Given the description of an element on the screen output the (x, y) to click on. 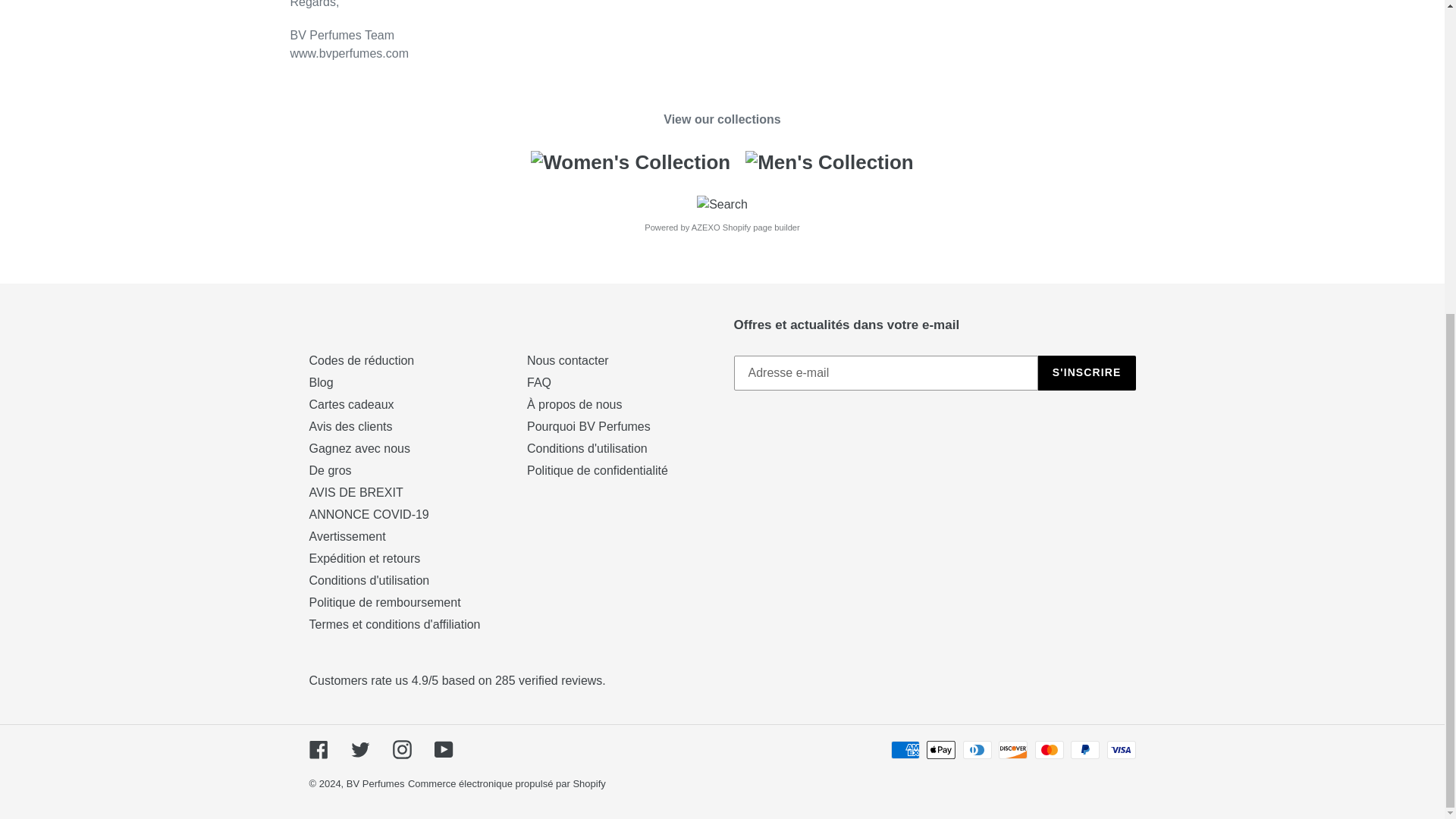
Search BV Perfumes (722, 204)
ANNONCE COVID-19 (368, 513)
Avis des clients (350, 426)
AZEXO (705, 226)
AVIS DE BREXIT (355, 492)
De gros (330, 470)
Blog (320, 382)
BV Perfumes Women's Collection (630, 161)
BV Perfumes Men's Collection (829, 161)
Cartes cadeaux (351, 404)
Gagnez avec nous (359, 448)
